Given the description of an element on the screen output the (x, y) to click on. 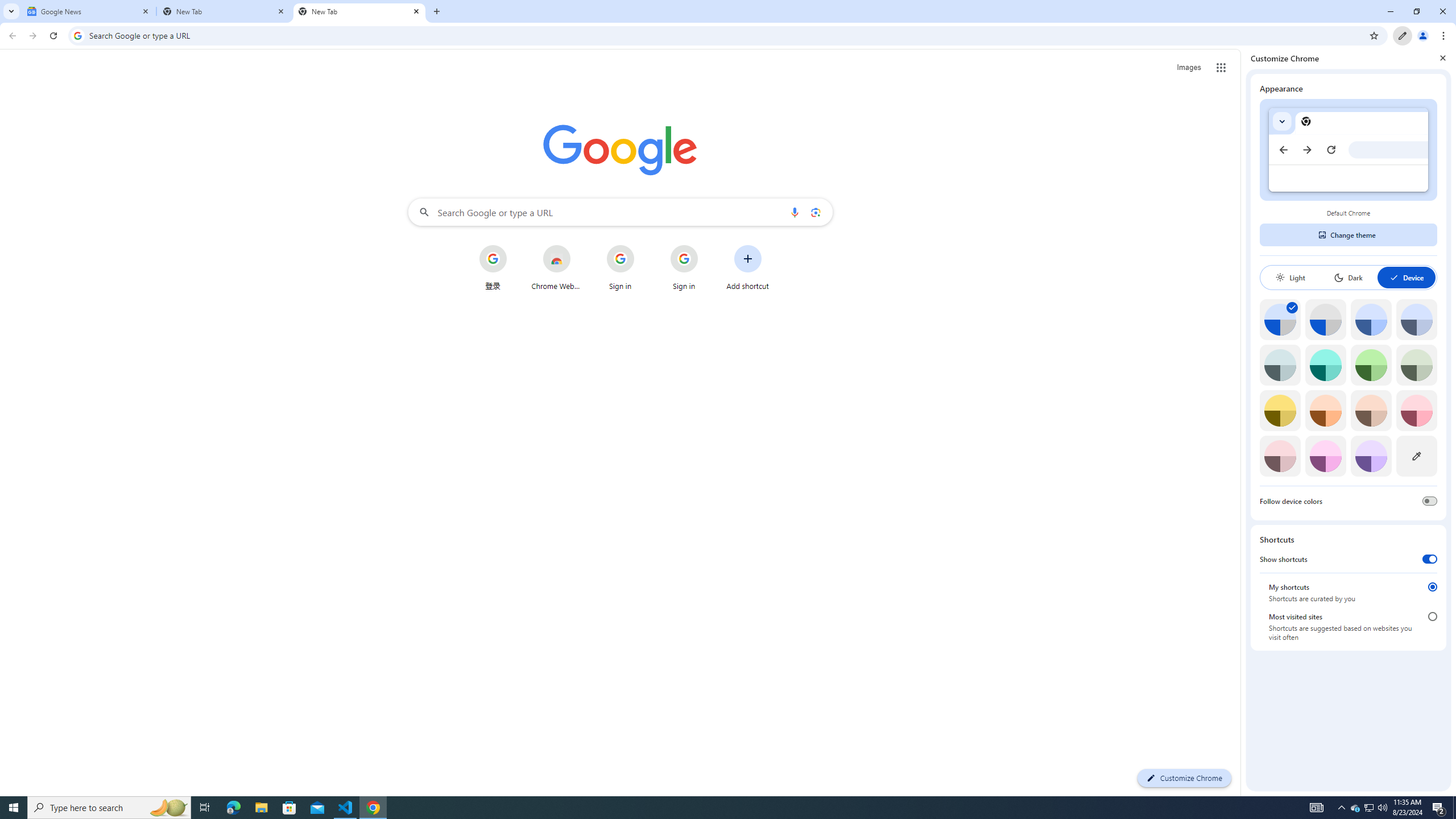
Rose (1416, 409)
Side Panel Resize Handle (1242, 422)
Show shortcuts (1429, 558)
Default Chrome (1348, 149)
Chrome Web Store (556, 267)
Orange (1325, 409)
Default color (1279, 318)
Dark (1348, 277)
